Given the description of an element on the screen output the (x, y) to click on. 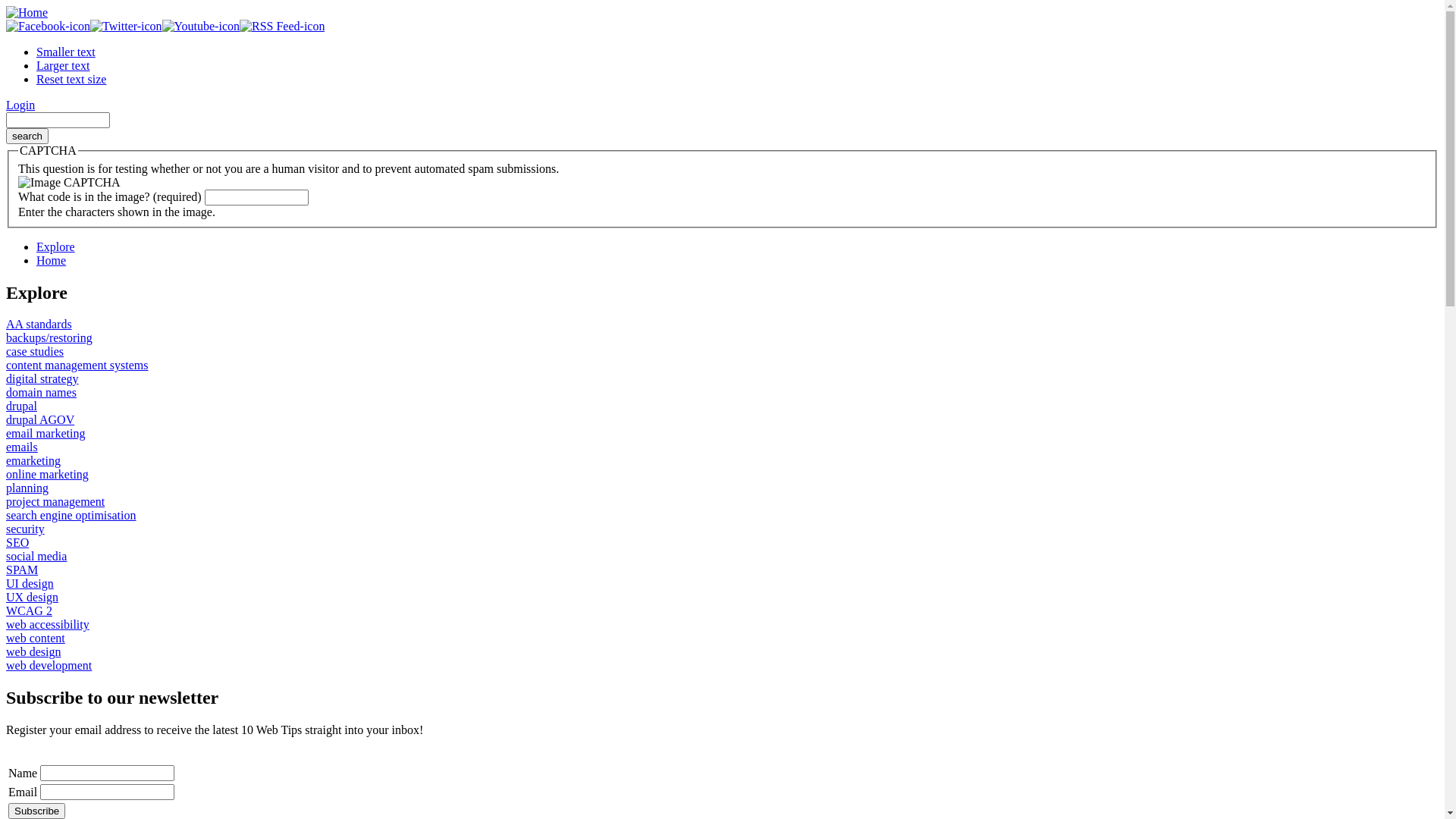
Twitter Element type: hover (126, 26)
search Element type: text (27, 136)
planning Element type: text (27, 487)
Home Element type: hover (26, 12)
drupal Element type: text (21, 405)
security Element type: text (25, 528)
social media Element type: text (36, 555)
SPAM Element type: text (21, 569)
Smaller text Element type: text (65, 51)
Login Element type: text (20, 104)
Youtube Element type: hover (200, 26)
WCAG 2 Element type: text (29, 610)
UI design Element type: text (29, 583)
Home Element type: text (50, 260)
Image CAPTCHA Element type: hover (69, 182)
web content Element type: text (35, 637)
Go to top of page Element type: text (48, 282)
backups/restoring Element type: text (49, 337)
RSS Feed Element type: hover (281, 26)
Explore Element type: text (55, 246)
Larger text Element type: text (62, 65)
digital strategy Element type: text (42, 378)
online marketing Element type: text (47, 473)
emarketing Element type: text (33, 460)
domain names Element type: text (41, 391)
Skip to Content Element type: text (43, 6)
web development Element type: text (48, 664)
SEO Element type: text (17, 542)
web accessibility Element type: text (47, 624)
content management systems Element type: text (77, 364)
Facebook Element type: hover (48, 26)
email marketing Element type: text (45, 432)
AA standards Element type: text (39, 323)
case studies Element type: text (34, 351)
web design Element type: text (33, 651)
project management Element type: text (55, 501)
Reset text size Element type: text (71, 78)
search engine optimisation Element type: text (71, 514)
UX design Element type: text (32, 596)
emails Element type: text (21, 446)
drupal AGOV Element type: text (40, 419)
